Given the description of an element on the screen output the (x, y) to click on. 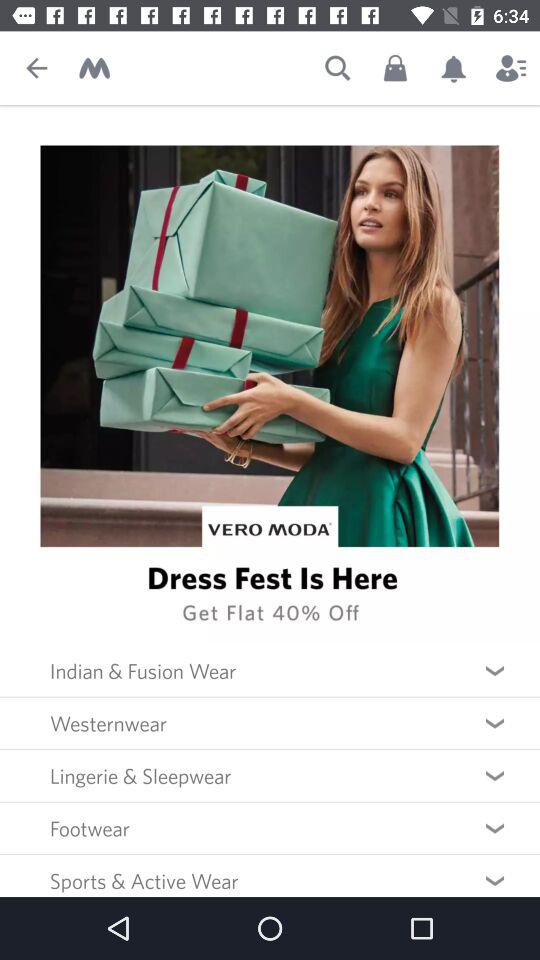
account menu (511, 68)
